Given the description of an element on the screen output the (x, y) to click on. 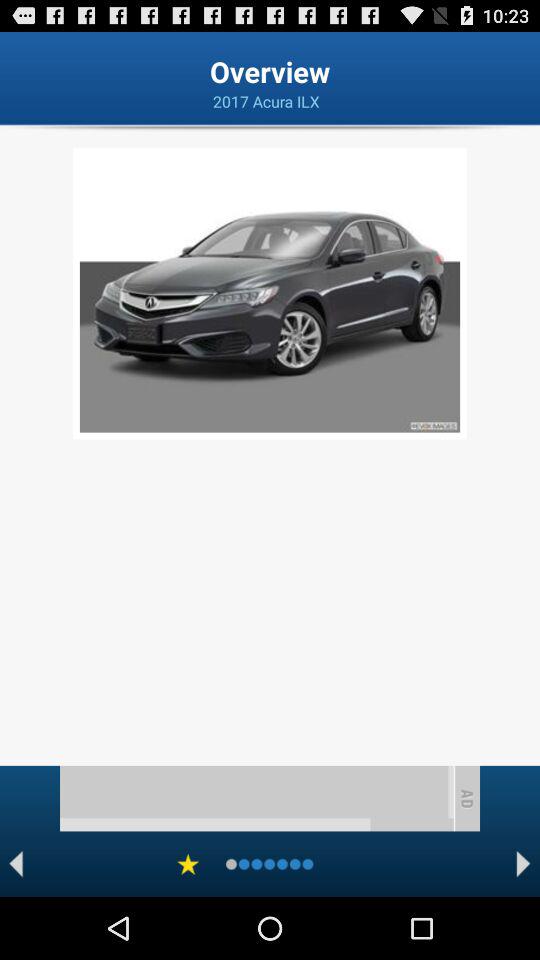
go back (16, 864)
